Given the description of an element on the screen output the (x, y) to click on. 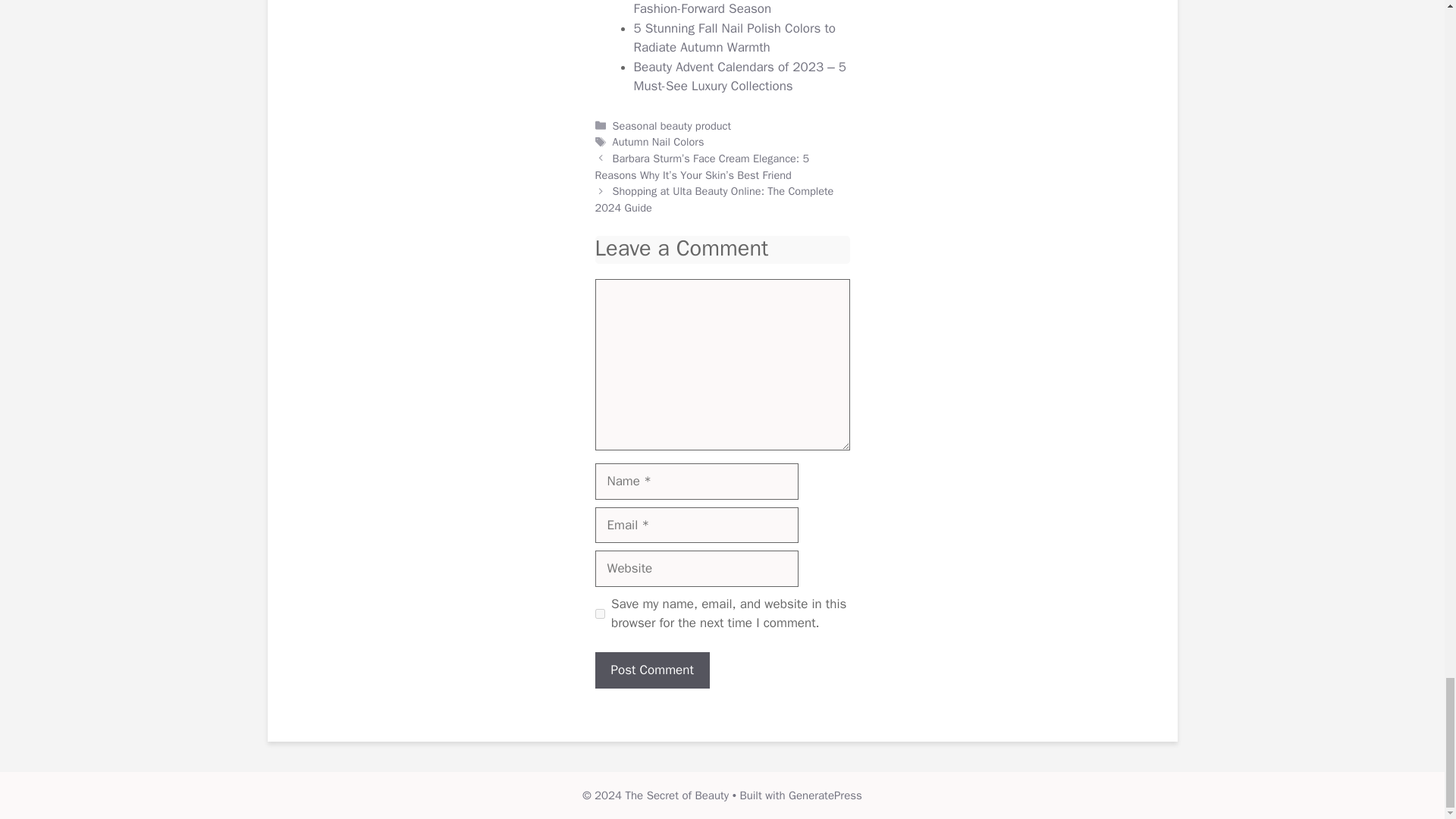
7 Best Fall Nail Color Trends for a Fashion-Forward Season (728, 8)
5 Stunning Fall Nail Polish Colors to Radiate Autumn Warmth (734, 38)
Seasonal beauty product (672, 125)
Post Comment (651, 669)
yes (599, 614)
Shopping at Ulta Beauty Online: The Complete 2024 Guide (713, 199)
Post Comment (651, 669)
Autumn Nail Colors (658, 141)
